Given the description of an element on the screen output the (x, y) to click on. 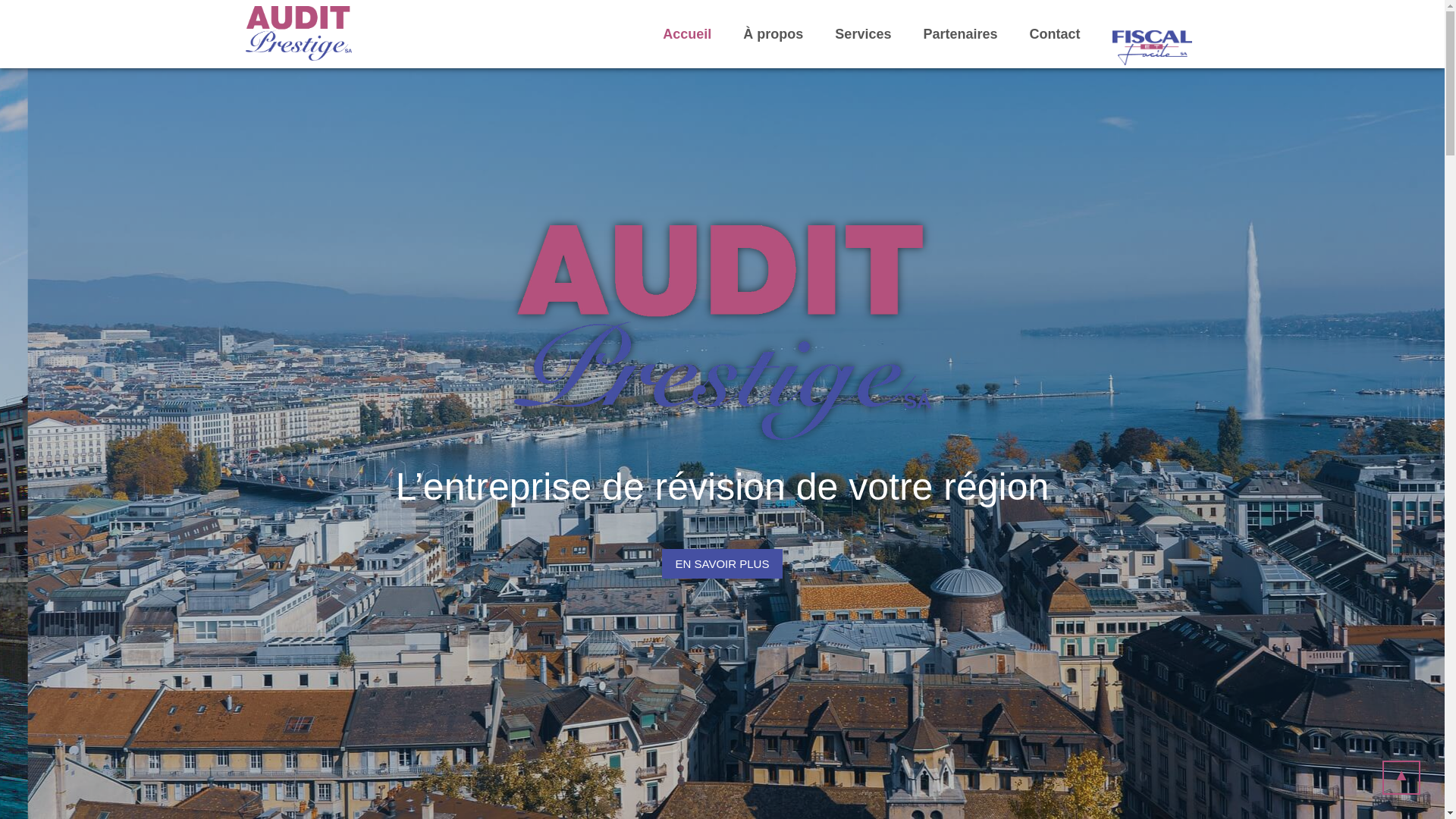
EN SAVOIR PLUS Element type: text (722, 563)
Accueil Element type: text (686, 34)
Contact Element type: text (1054, 34)
Services Element type: text (862, 34)
EN SAVOIR PLUS Element type: text (722, 563)
Partenaires Element type: text (959, 34)
